Given the description of an element on the screen output the (x, y) to click on. 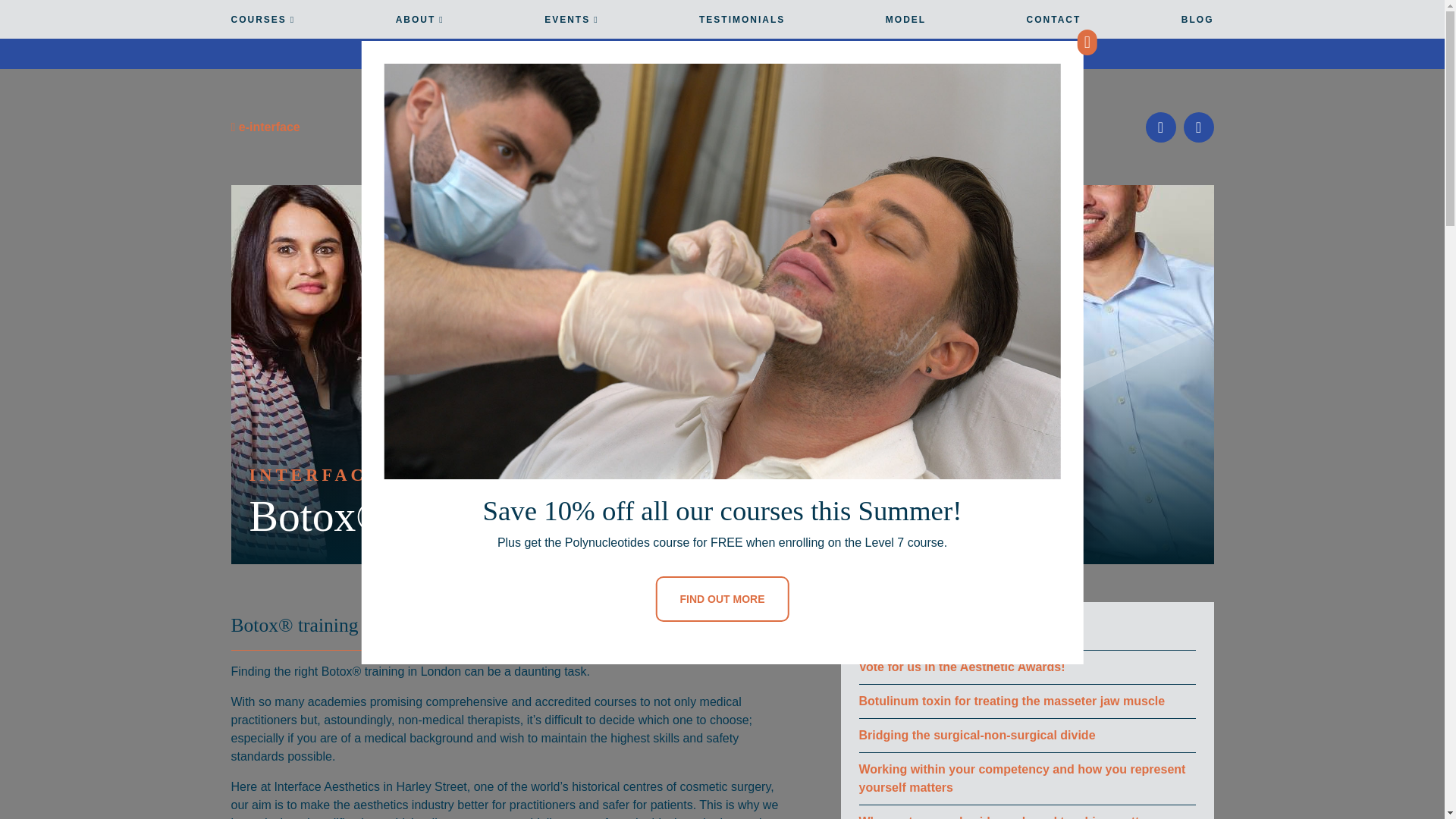
TESTIMONIALS (741, 25)
COURSES (262, 25)
Book Level 7 course in June get Polynucleotides course free (721, 54)
ABOUT (420, 25)
FIND OUT MORE (722, 598)
CONTACT (1053, 25)
EVENTS (571, 25)
MODEL (905, 25)
